Given the description of an element on the screen output the (x, y) to click on. 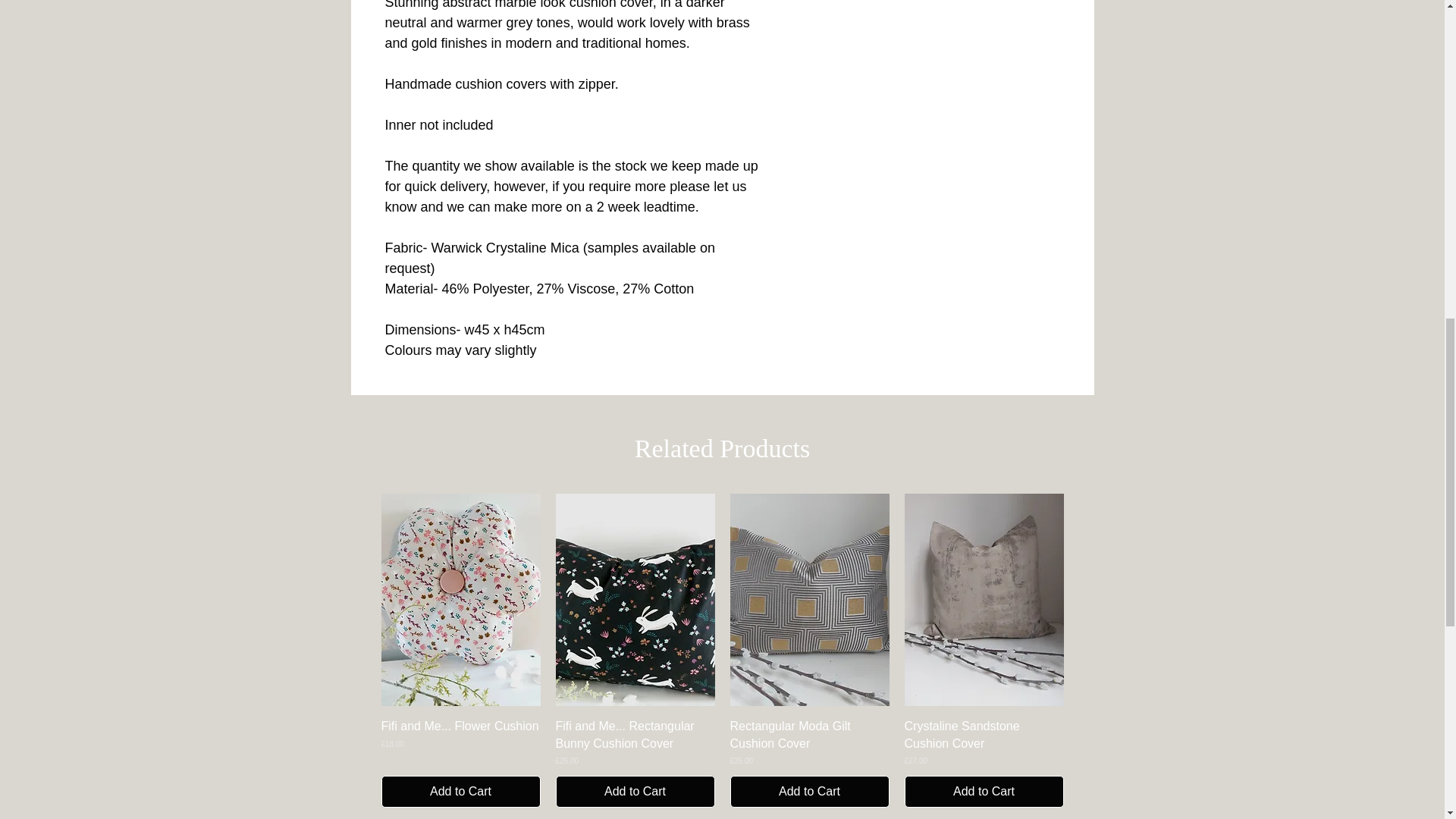
Add to Cart (808, 791)
Add to Cart (460, 791)
Add to Cart (983, 791)
Add to Cart (634, 791)
